Given the description of an element on the screen output the (x, y) to click on. 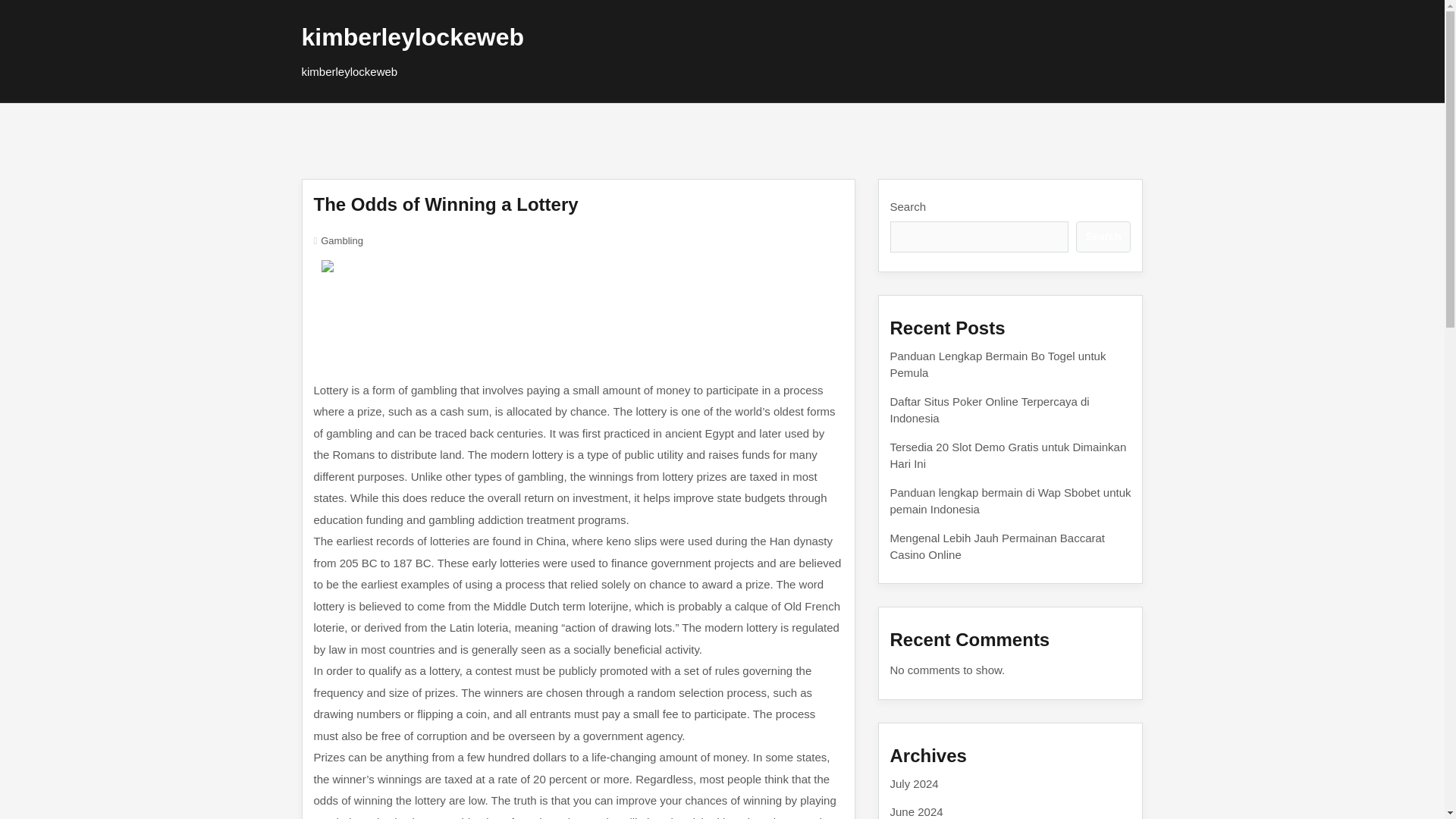
Daftar Situs Poker Online Terpercaya di Indonesia (989, 409)
June 2024 (916, 811)
Panduan Lengkap Bermain Bo Togel untuk Pemula (997, 363)
kimberleylockeweb (412, 36)
The Odds of Winning a Lottery (446, 204)
Panduan lengkap bermain di Wap Sbobet untuk pemain Indonesia (1010, 500)
Gambling (341, 240)
Mengenal Lebih Jauh Permainan Baccarat Casino Online (997, 545)
Tersedia 20 Slot Demo Gratis untuk Dimainkan Hari Ini (1007, 454)
July 2024 (914, 782)
Search (1103, 236)
